Given the description of an element on the screen output the (x, y) to click on. 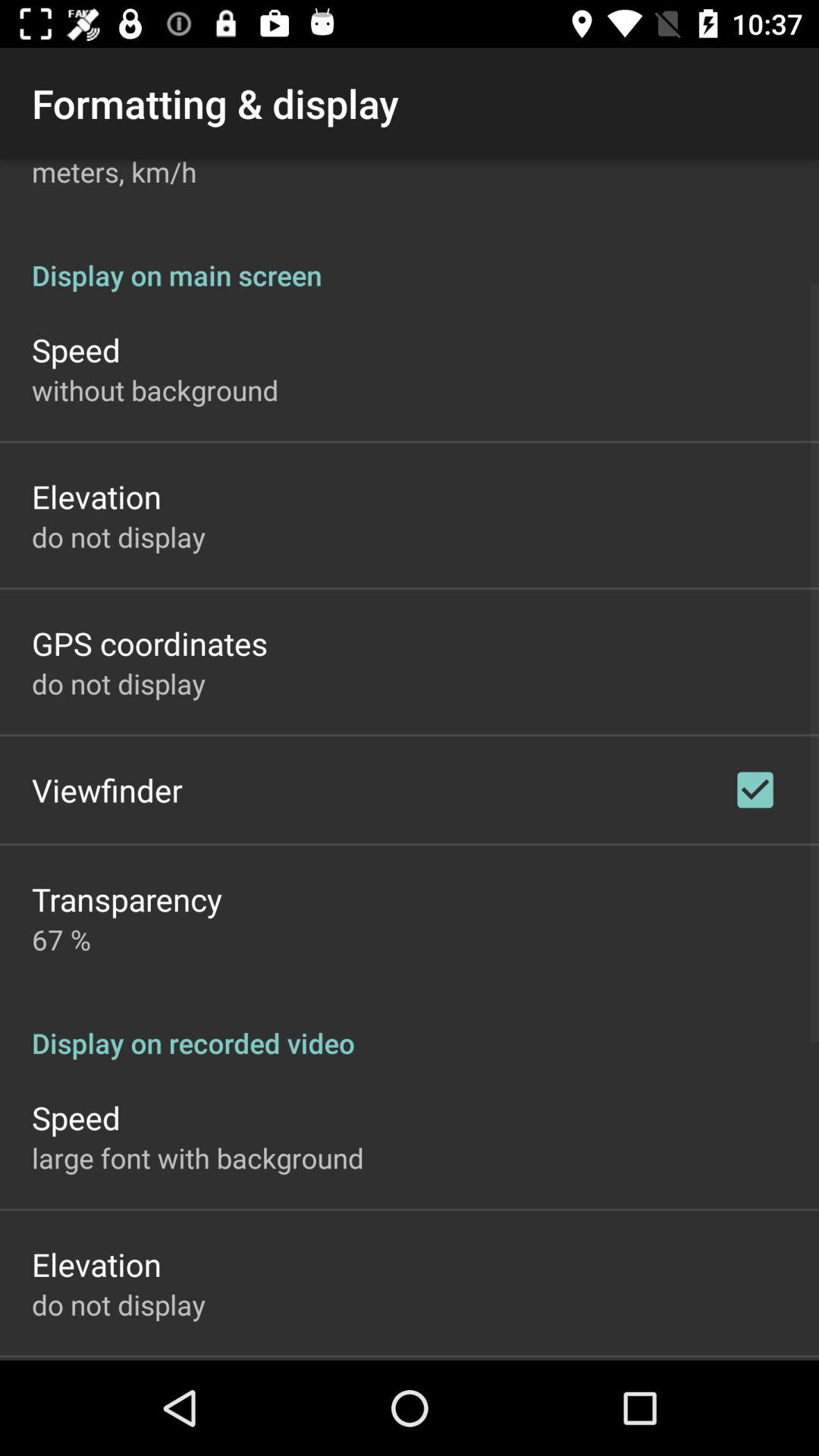
launch the 67 % item (61, 939)
